Given the description of an element on the screen output the (x, y) to click on. 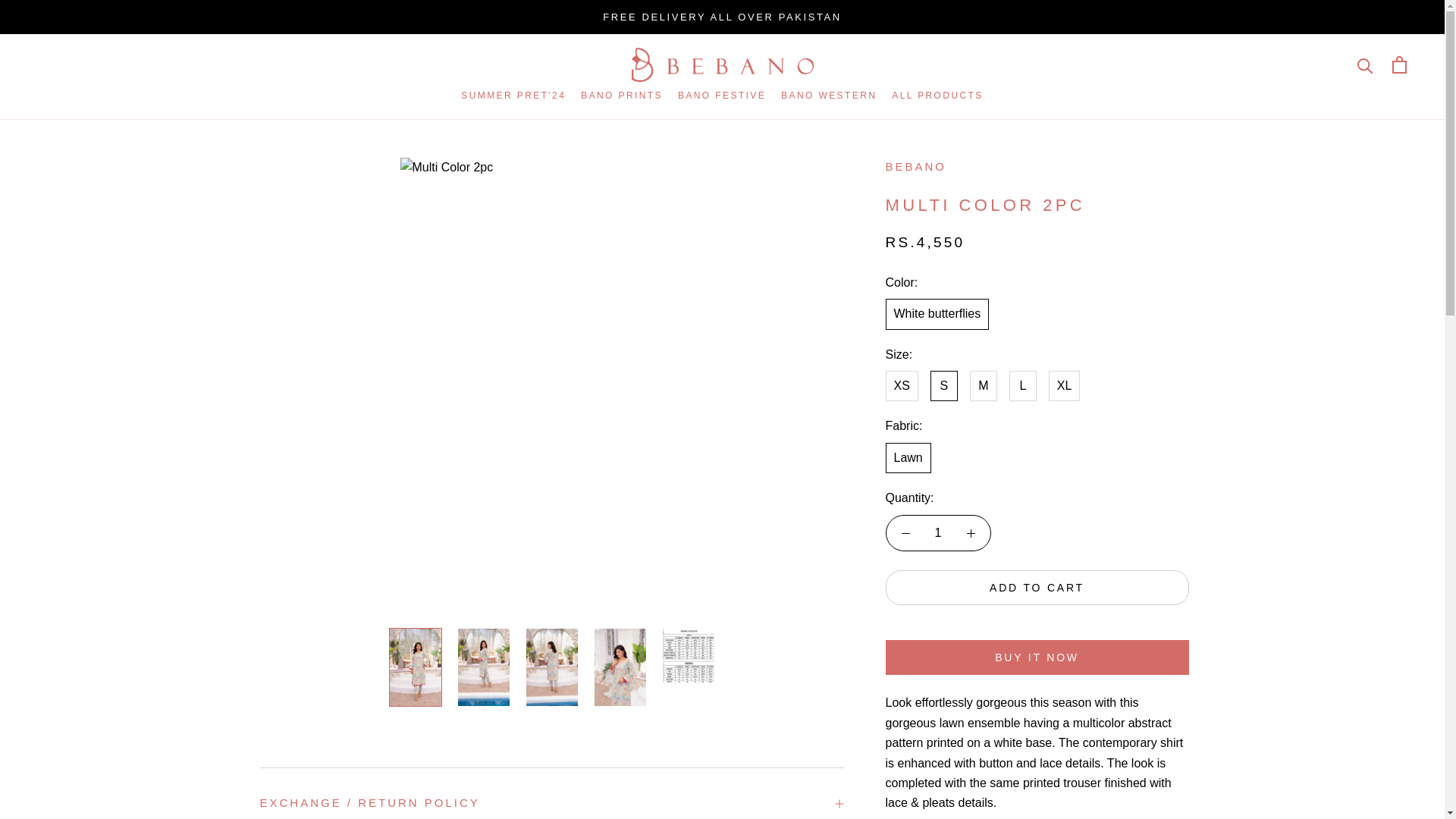
ADD TO CART (1037, 587)
BUY IT NOW (513, 95)
1 (1037, 656)
